Given the description of an element on the screen output the (x, y) to click on. 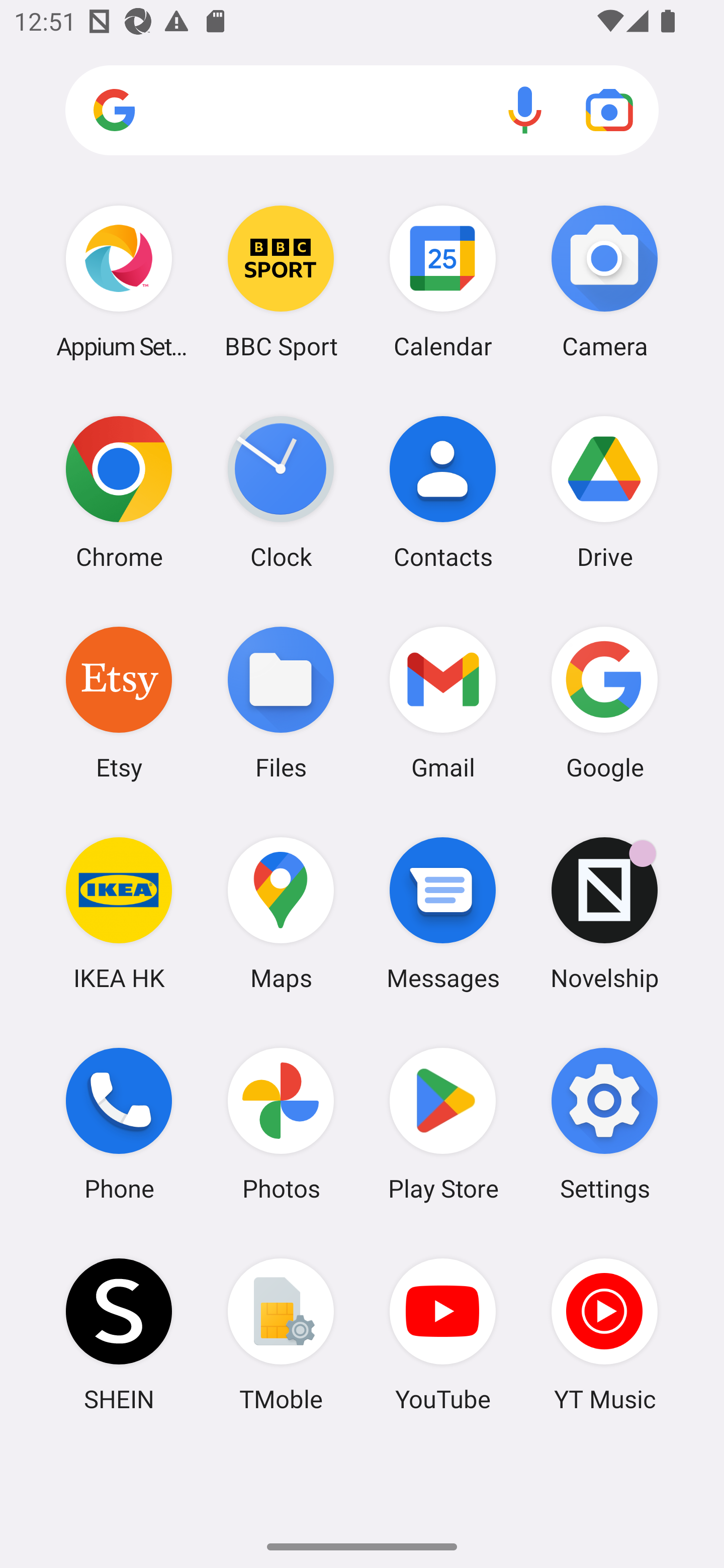
Search apps, web and more (361, 110)
Voice search (524, 109)
Google Lens (608, 109)
Appium Settings (118, 281)
BBC Sport (280, 281)
Calendar (443, 281)
Camera (604, 281)
Chrome (118, 492)
Clock (280, 492)
Contacts (443, 492)
Drive (604, 492)
Etsy (118, 702)
Files (280, 702)
Gmail (443, 702)
Google (604, 702)
IKEA HK (118, 913)
Maps (280, 913)
Messages (443, 913)
Novelship Novelship has 7 notifications (604, 913)
Phone (118, 1124)
Photos (280, 1124)
Play Store (443, 1124)
Settings (604, 1124)
SHEIN (118, 1334)
TMoble (280, 1334)
YouTube (443, 1334)
YT Music (604, 1334)
